Given the description of an element on the screen output the (x, y) to click on. 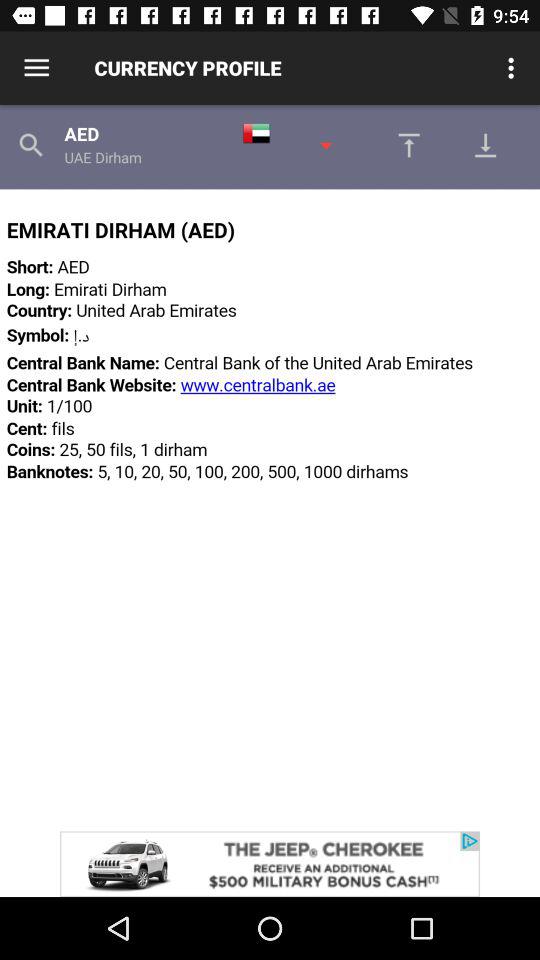
download file (491, 145)
